Given the description of an element on the screen output the (x, y) to click on. 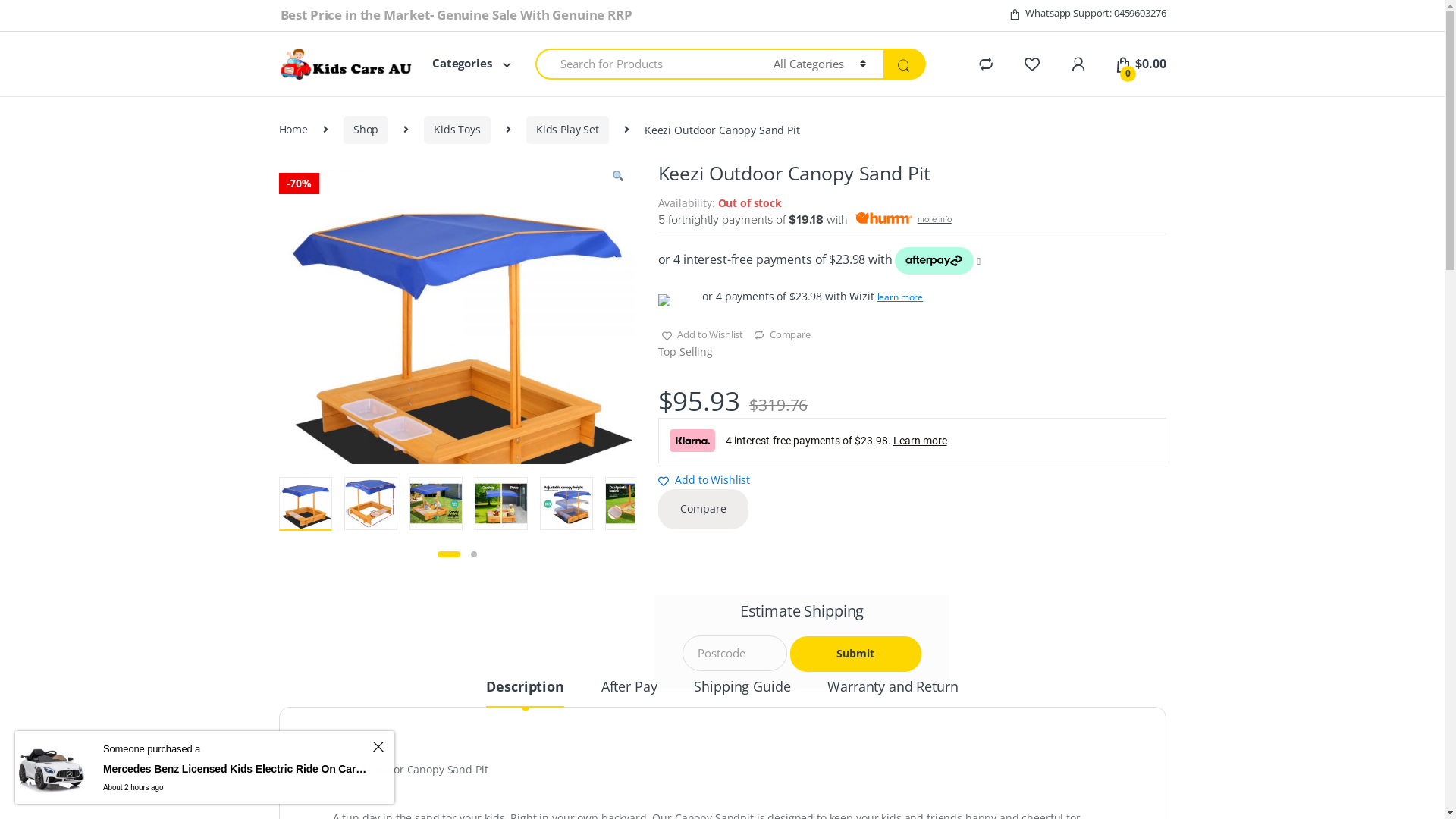
Shipping Guide Element type: text (741, 692)
After Pay Element type: text (629, 692)
Submit Element type: text (855, 653)
2 Element type: text (473, 554)
SAND-CANOPY-WATER-00.jpg Element type: hover (457, 338)
Warranty and Return Element type: text (892, 692)
Add to Wishlist Element type: text (704, 479)
Kids Play Set Element type: text (567, 130)
Home Element type: text (293, 129)
0
$0.00 Element type: text (1139, 63)
Add to Wishlist Element type: text (702, 334)
Categories Element type: text (462, 63)
Best Price in the Market- Genuine Sale With Genuine RRP Element type: text (456, 14)
Shop Element type: text (365, 130)
Compare Element type: text (781, 330)
Description Element type: text (524, 692)
Compare Element type: text (703, 509)
1 Element type: text (447, 554)
5 fortnightly payments of $19.18 with more info Element type: text (912, 219)
learn more Element type: text (899, 296)
Kids Toys Element type: text (456, 130)
Whatsapp Support: 0459603276 Element type: text (1087, 13)
